Given the description of an element on the screen output the (x, y) to click on. 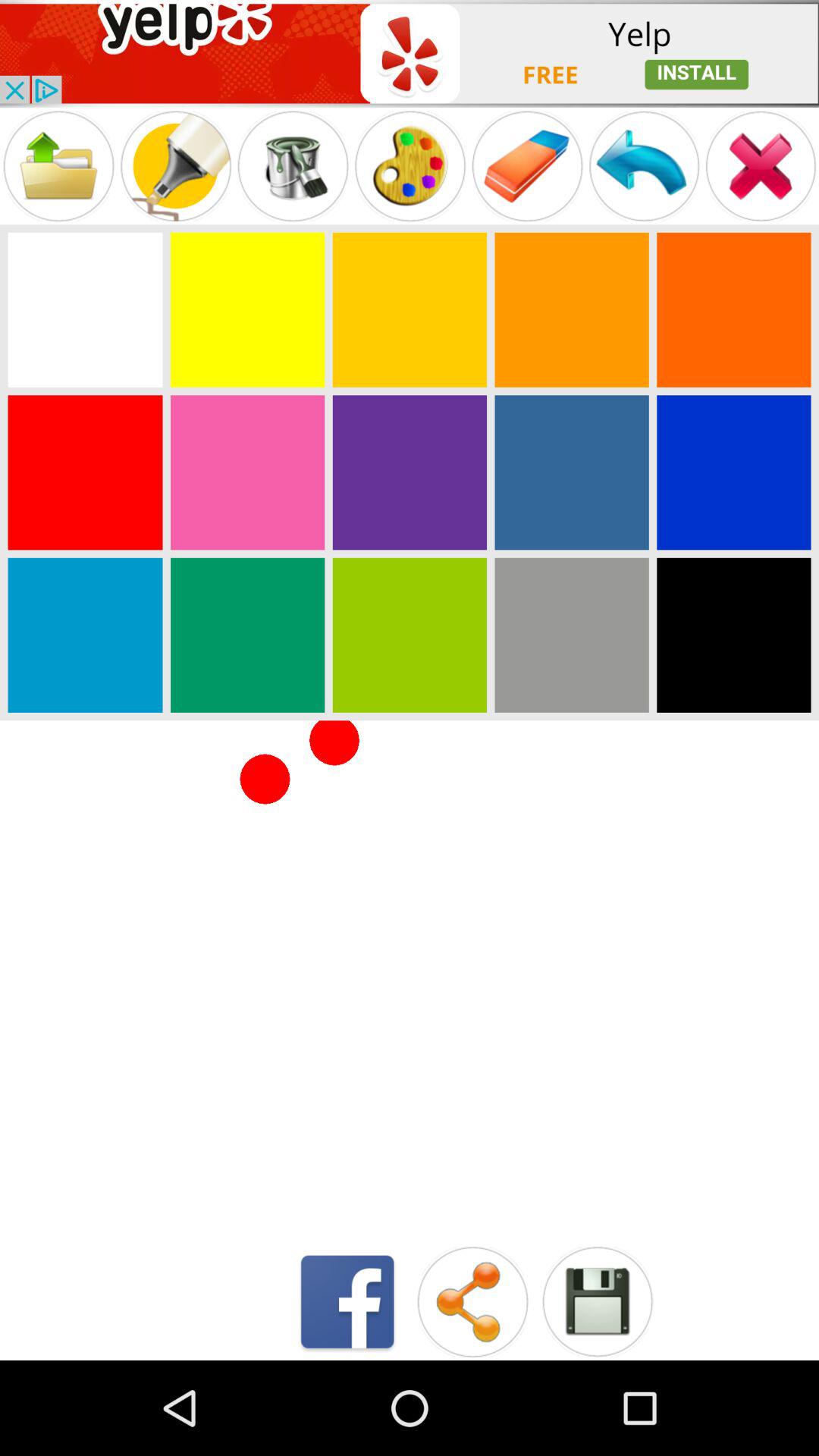
select color black (733, 634)
